Given the description of an element on the screen output the (x, y) to click on. 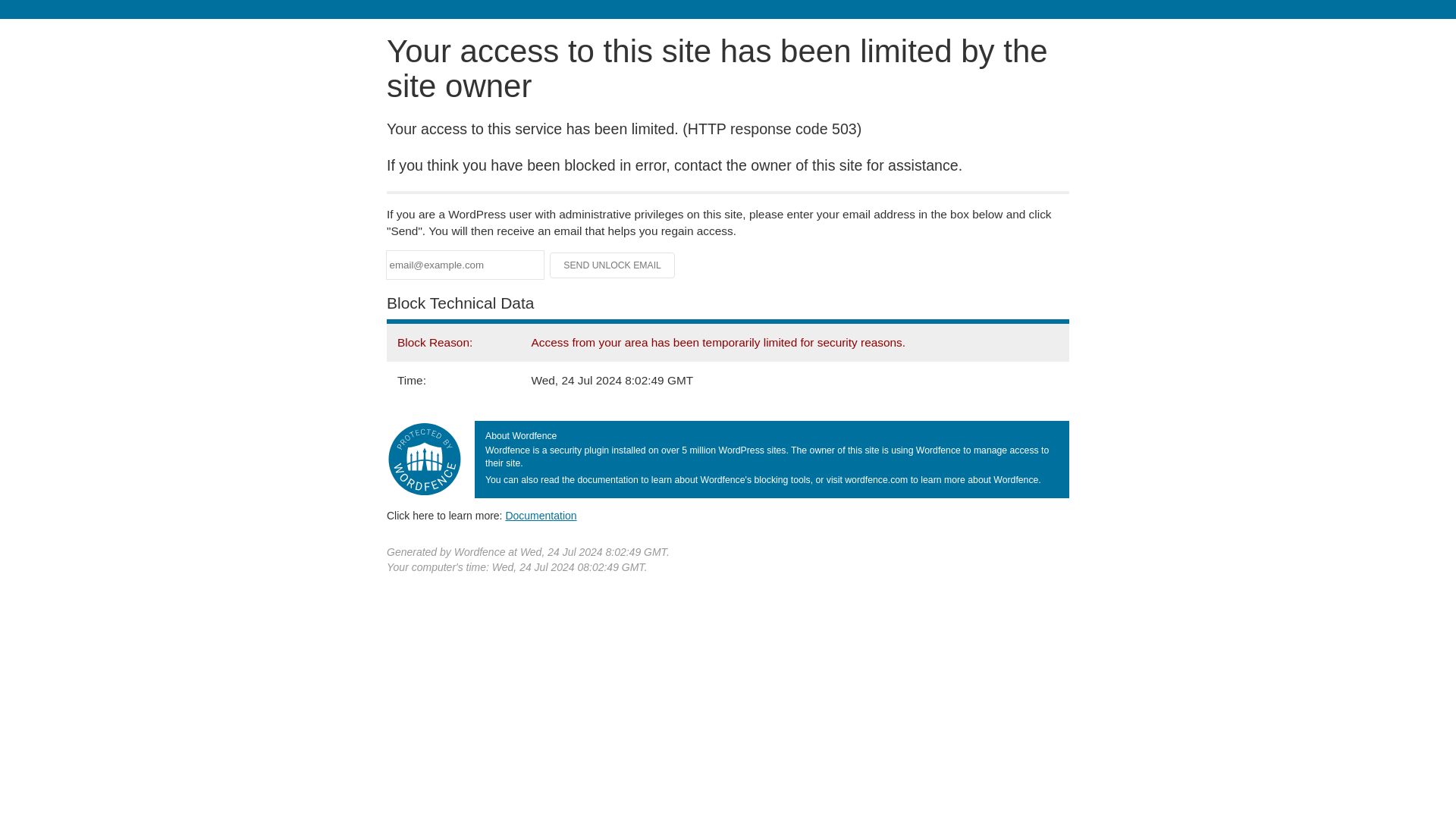
Documentation (540, 515)
Send Unlock Email (612, 265)
Send Unlock Email (612, 265)
